Given the description of an element on the screen output the (x, y) to click on. 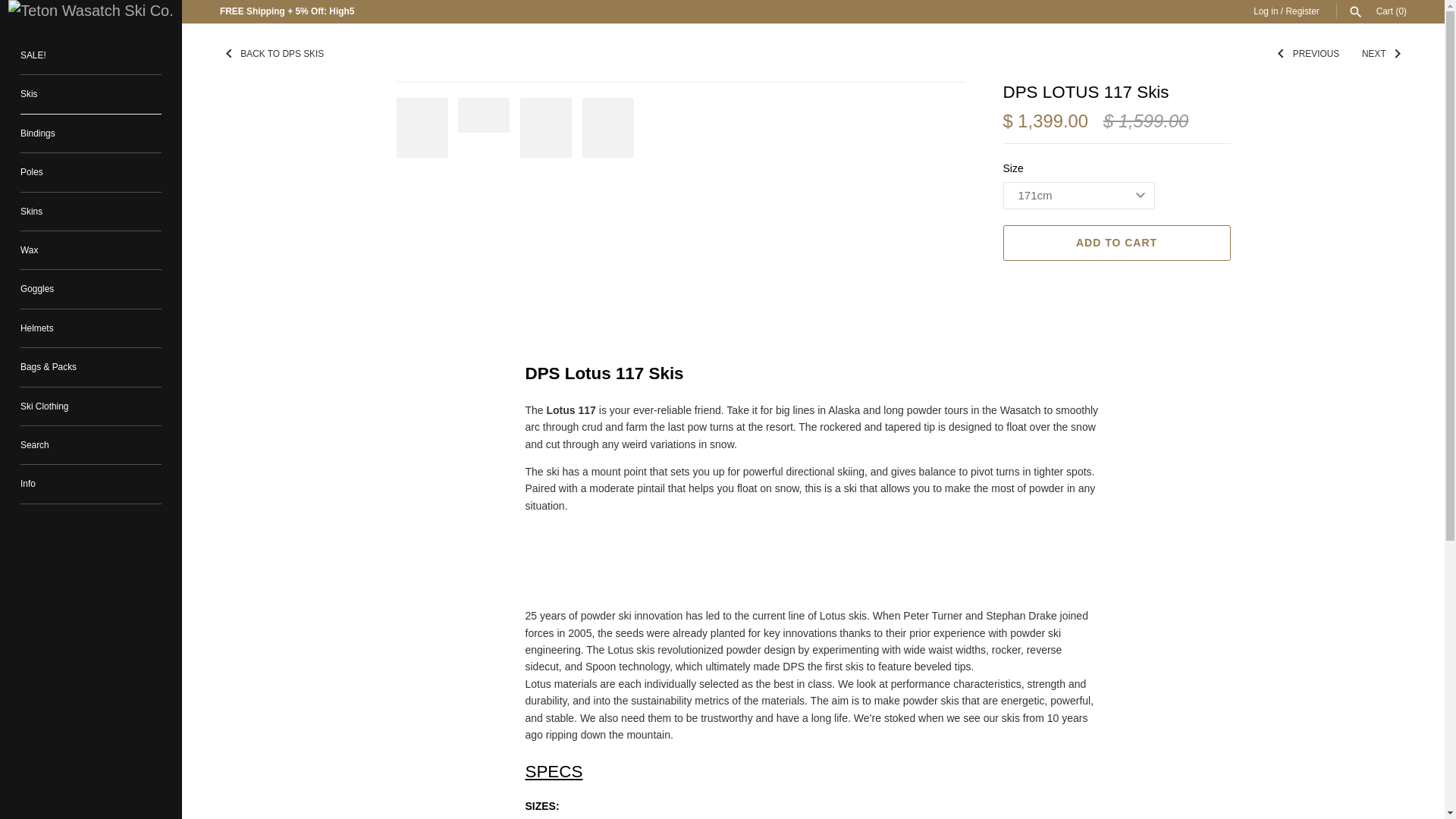
SALE! (90, 55)
Skis (90, 94)
Log in (1265, 10)
LEFT (1280, 54)
Skins (90, 211)
RIGHT (1397, 54)
Wax (90, 250)
LEFT (228, 54)
Bindings (90, 133)
Register (1302, 10)
